Given the description of an element on the screen output the (x, y) to click on. 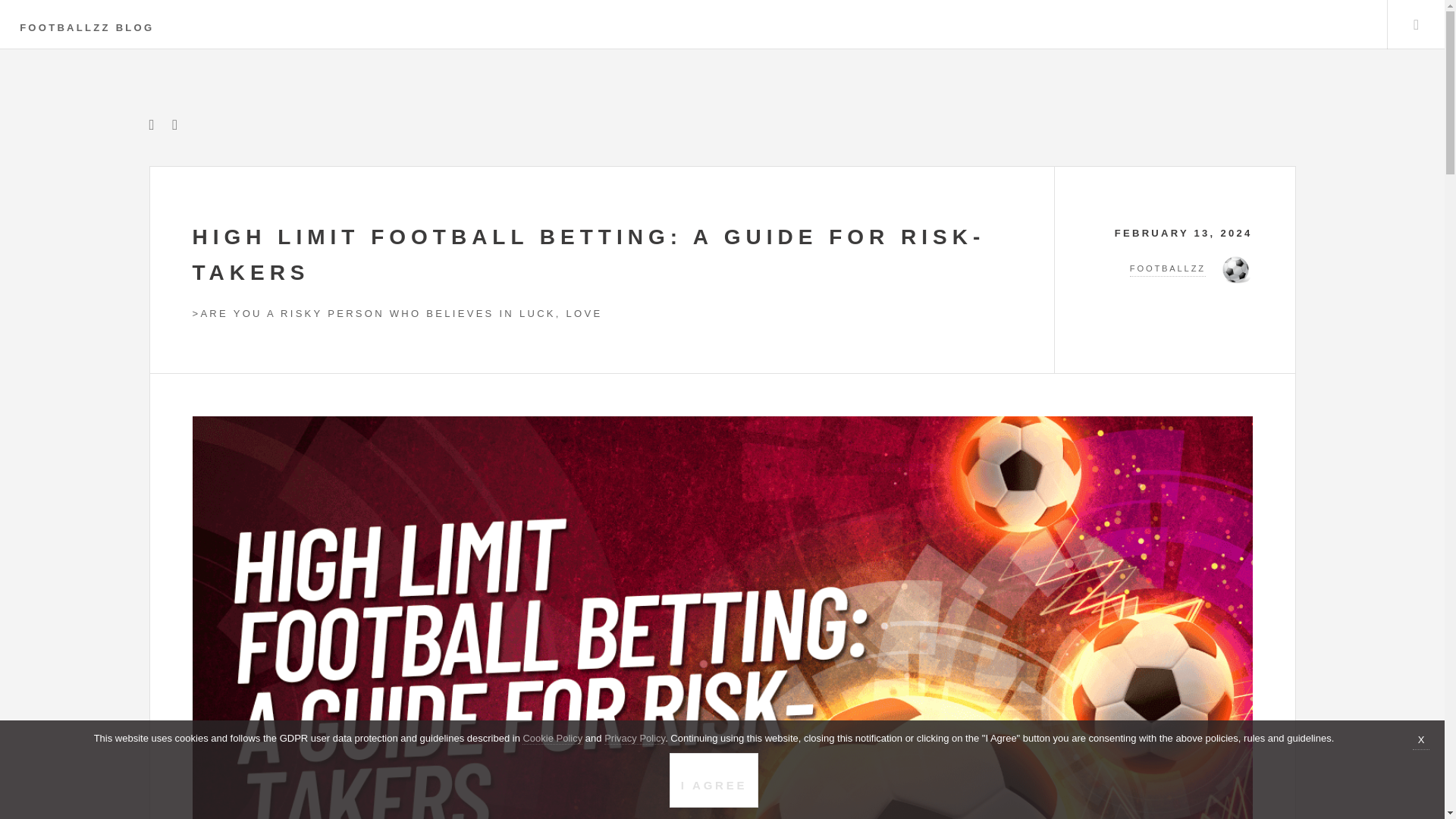
Privacy Policy (634, 738)
X (1420, 741)
Cookie Policy (552, 738)
FOOTBALLZZ (1174, 269)
FOOTBALLZZ BLOG (87, 27)
I AGREE (713, 779)
